Given the description of an element on the screen output the (x, y) to click on. 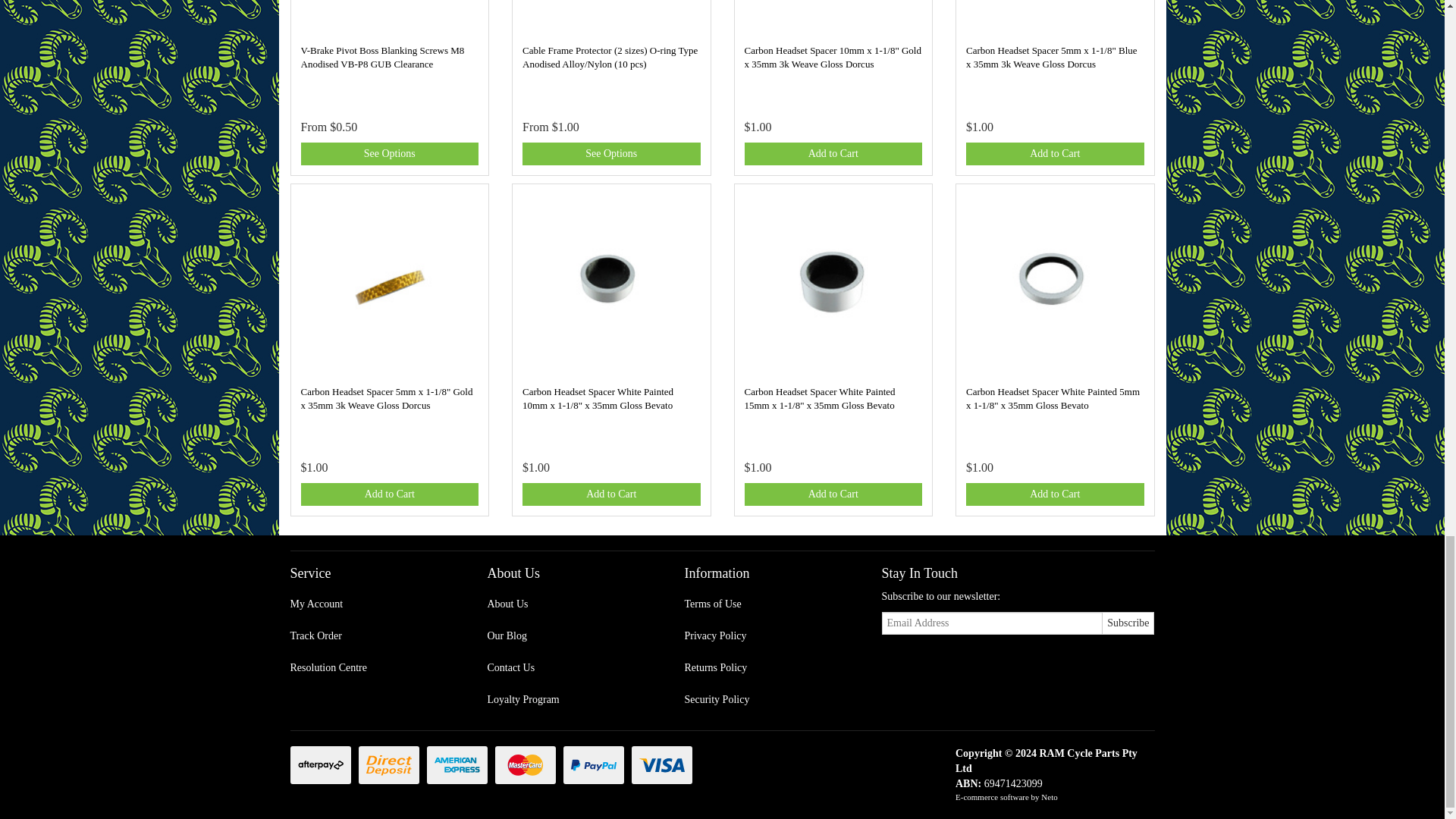
Buying Options (389, 153)
Subscribe (1128, 622)
